Given the description of an element on the screen output the (x, y) to click on. 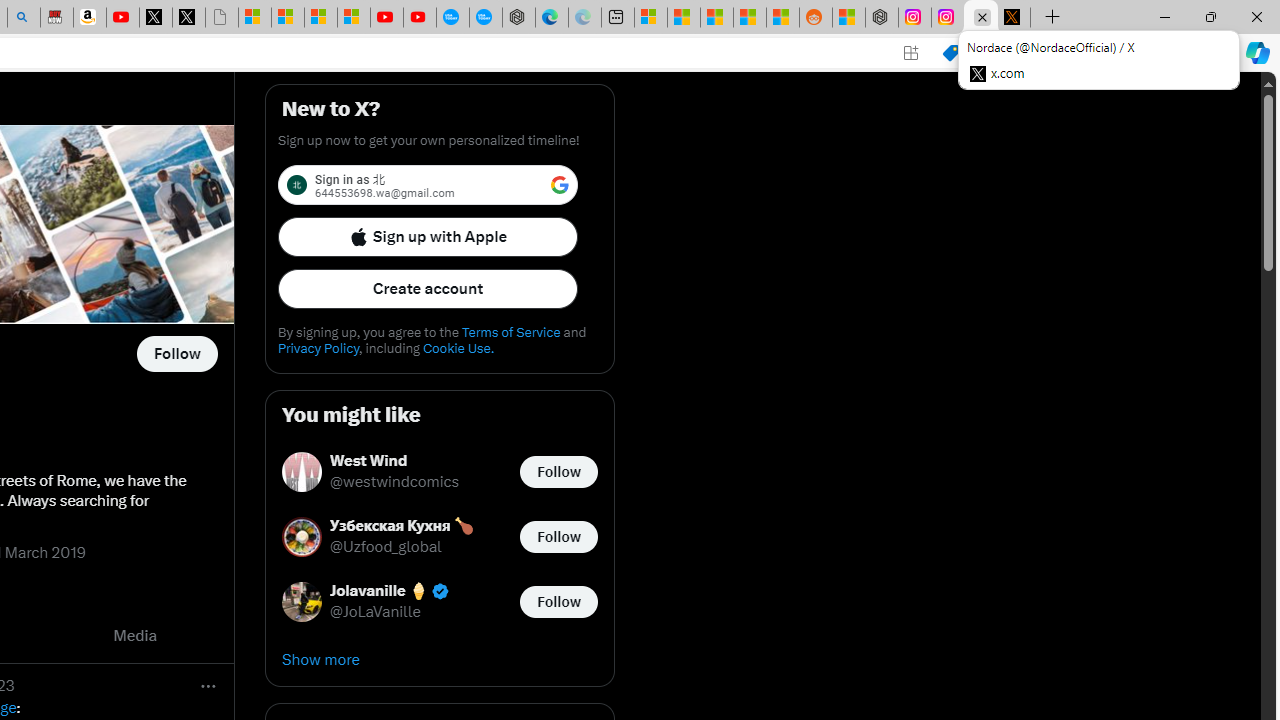
Gloom - YouTube (387, 17)
help.x.com | 524: A timeout occurred (1014, 17)
Follow @JoLaVanille (558, 600)
App available. Install X (910, 53)
West Wind @westwindcomics Follow @westwindcomics (440, 471)
Sign up with Apple (427, 236)
@westwindcomics (394, 482)
